Given the description of an element on the screen output the (x, y) to click on. 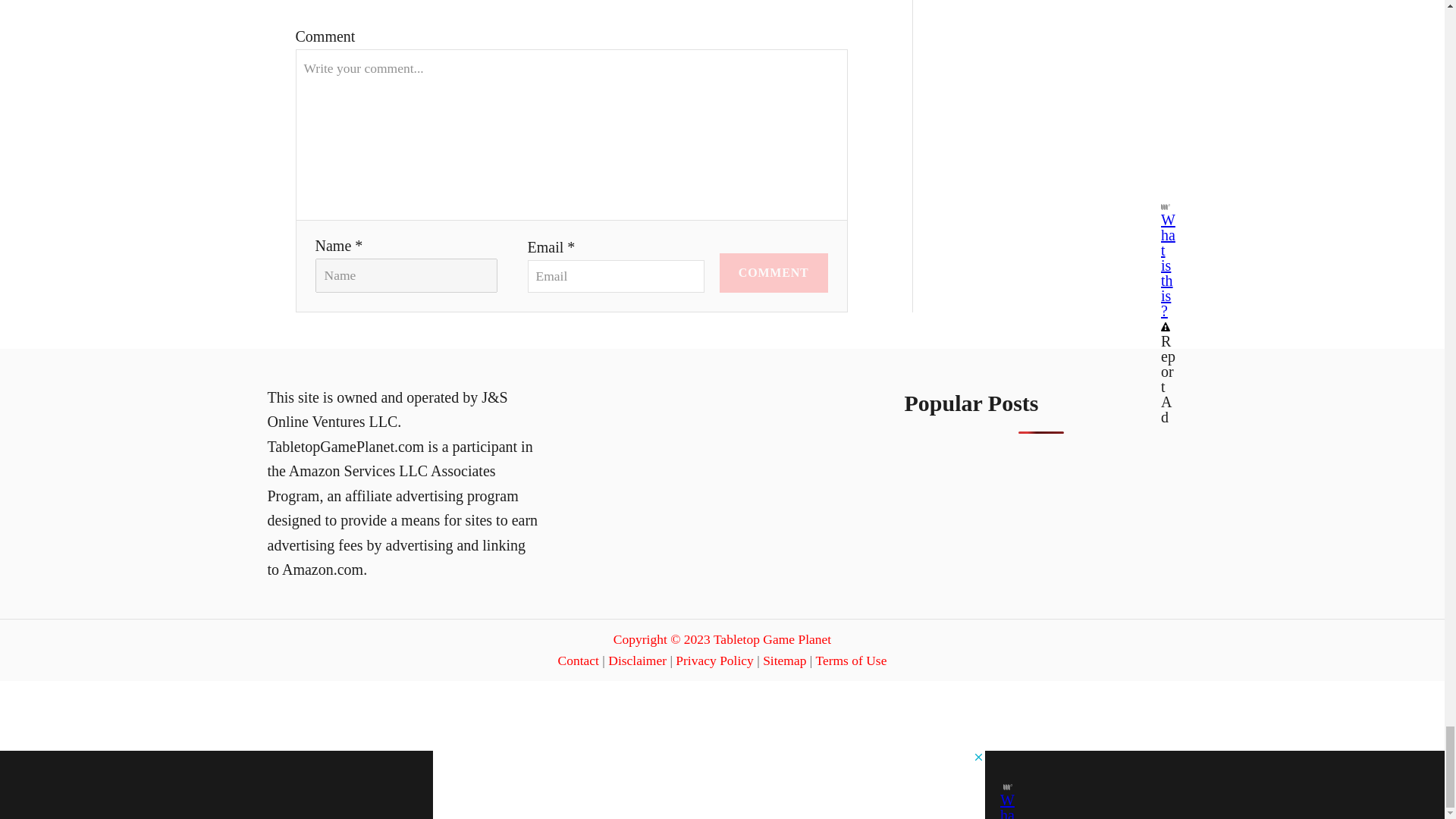
Sitemap (784, 660)
Contact (577, 660)
Terms of Use (850, 660)
Disclaimer (637, 660)
Privacy Policy (714, 660)
COMMENT (773, 272)
